Given the description of an element on the screen output the (x, y) to click on. 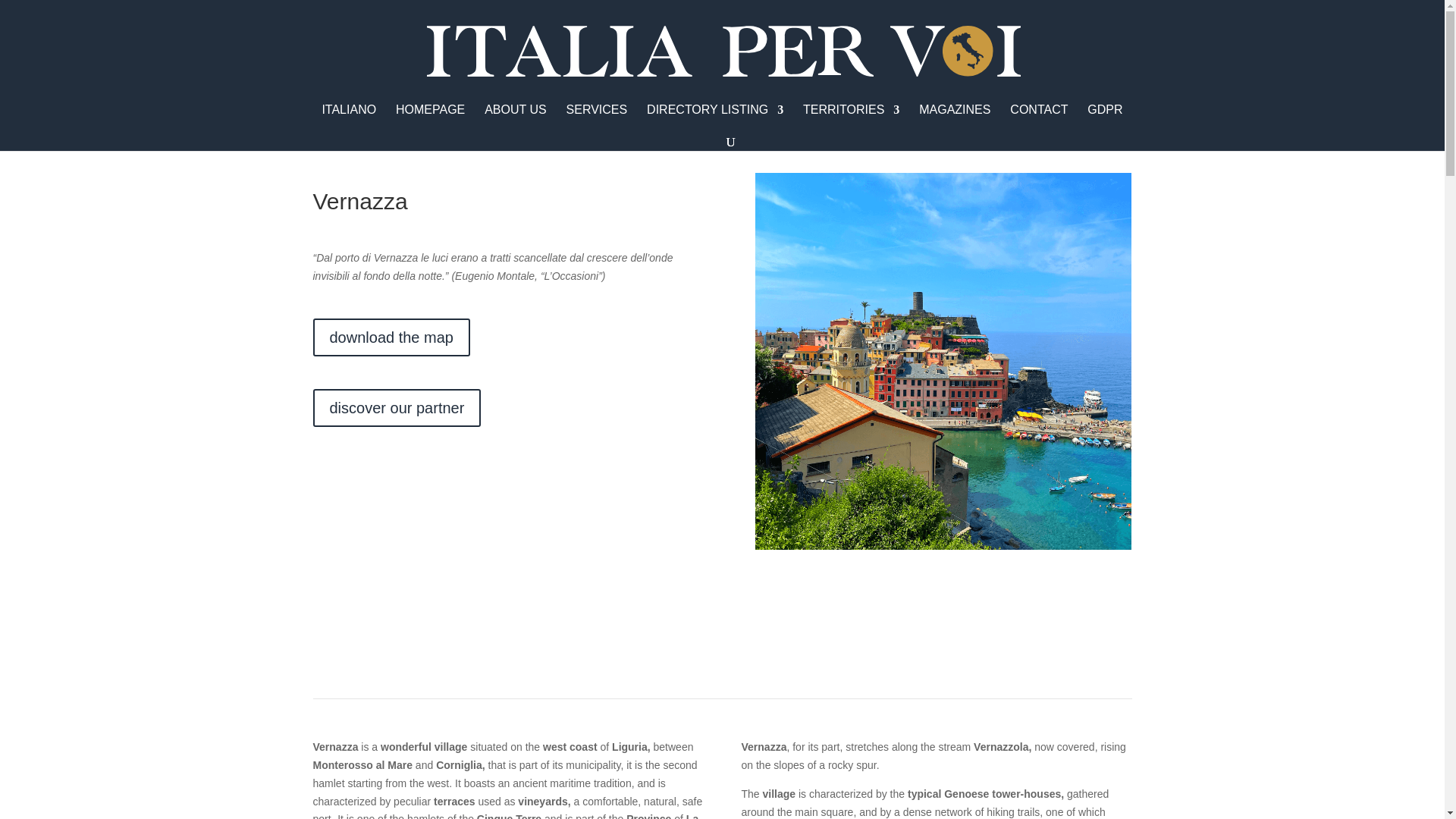
ABOUT US (515, 118)
HOMEPAGE (430, 118)
ITALIANO (348, 118)
SERVICES (596, 118)
DIRECTORY LISTING (714, 118)
TERRITORIES (851, 118)
